Given the description of an element on the screen output the (x, y) to click on. 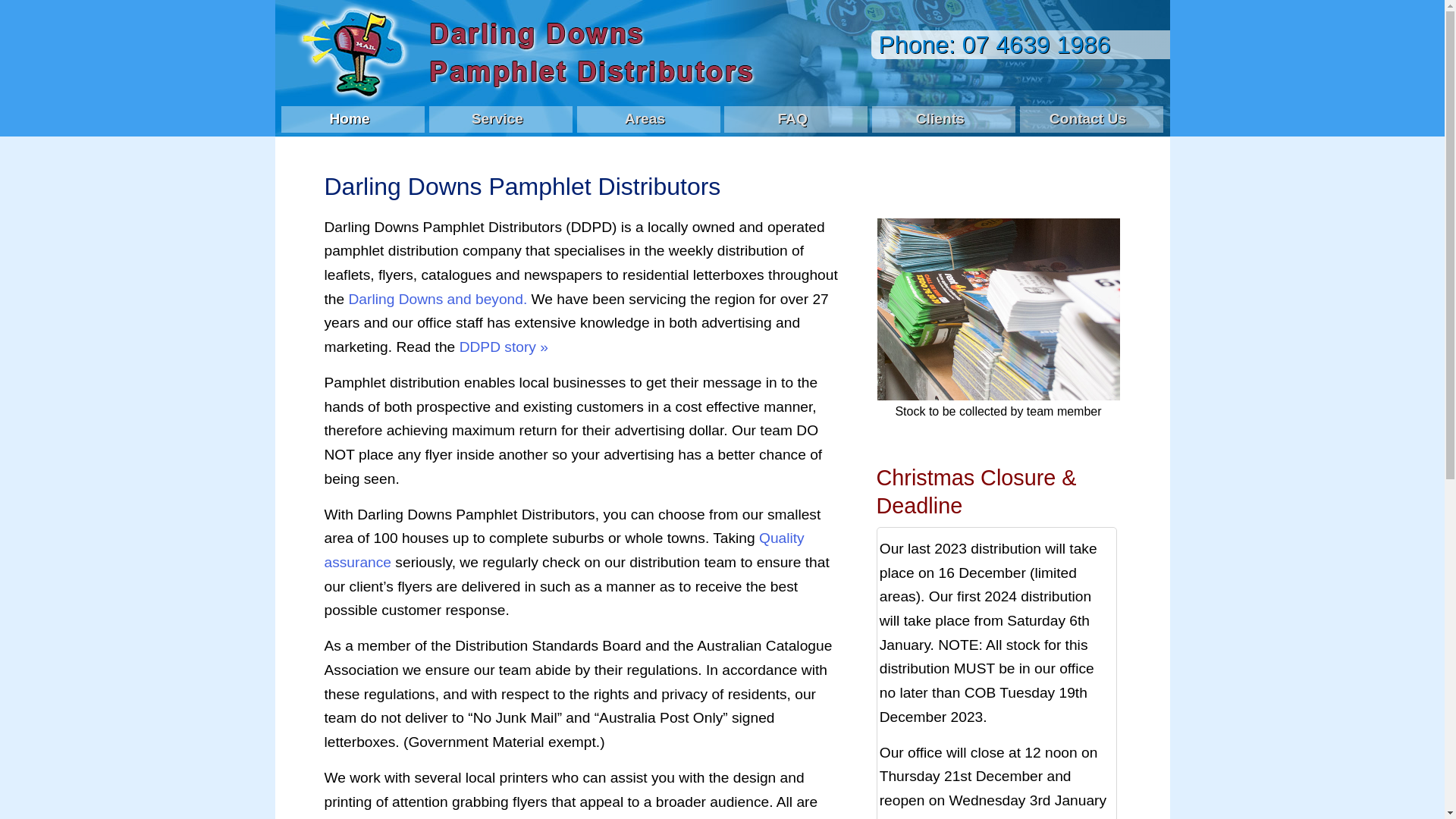
Areas Element type: text (644, 119)
Contact Us Element type: text (1087, 119)
Service Element type: text (496, 119)
Clients Element type: text (939, 119)
07 4639 1986 Element type: text (1036, 44)
FAQ Element type: text (791, 119)
Darling Downs and beyond. Element type: text (437, 299)
Quality assurance Element type: text (564, 550)
